Given the description of an element on the screen output the (x, y) to click on. 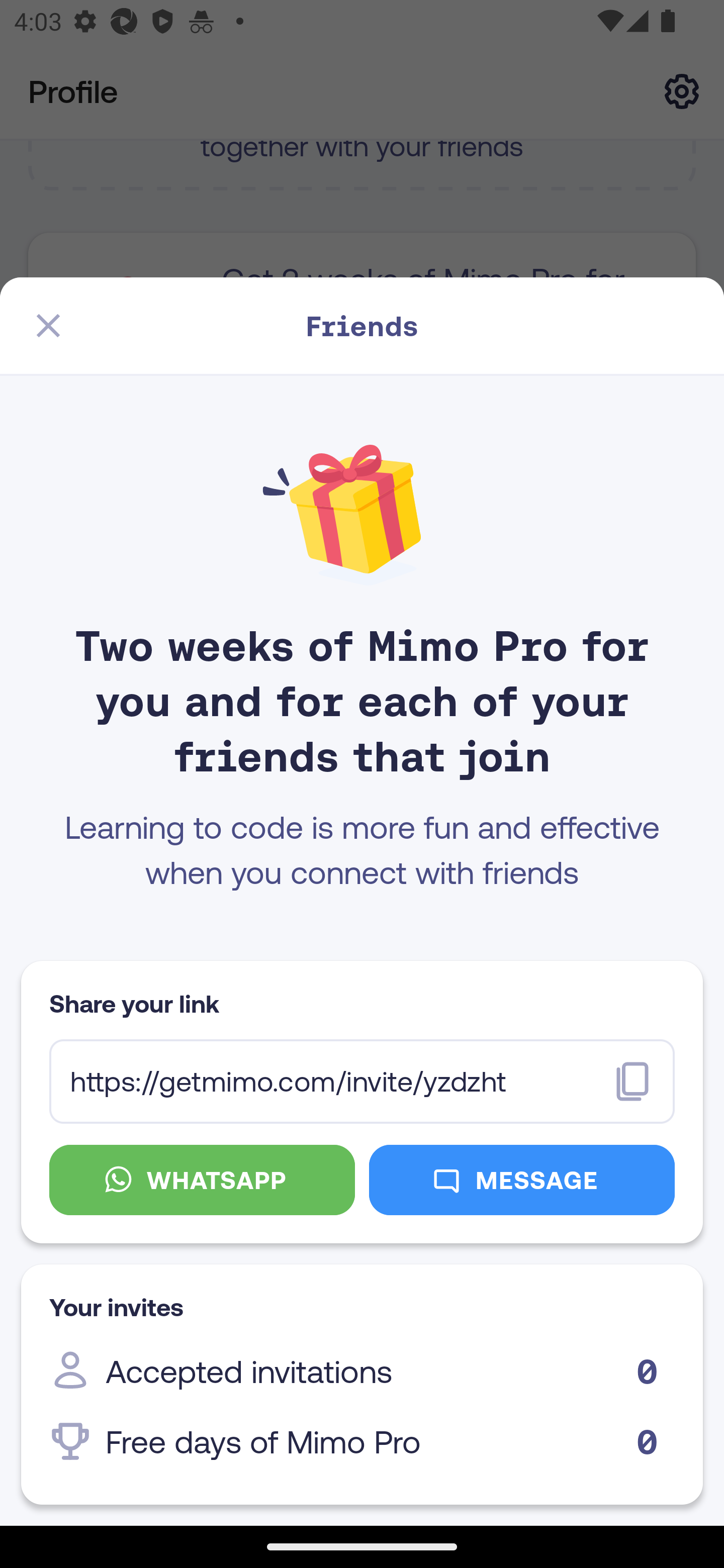
Close (47, 325)
https://getmimo.com/invite/yzdzht (361, 1081)
WHATSAPP (201, 1179)
MESSAGE (521, 1179)
